Given the description of an element on the screen output the (x, y) to click on. 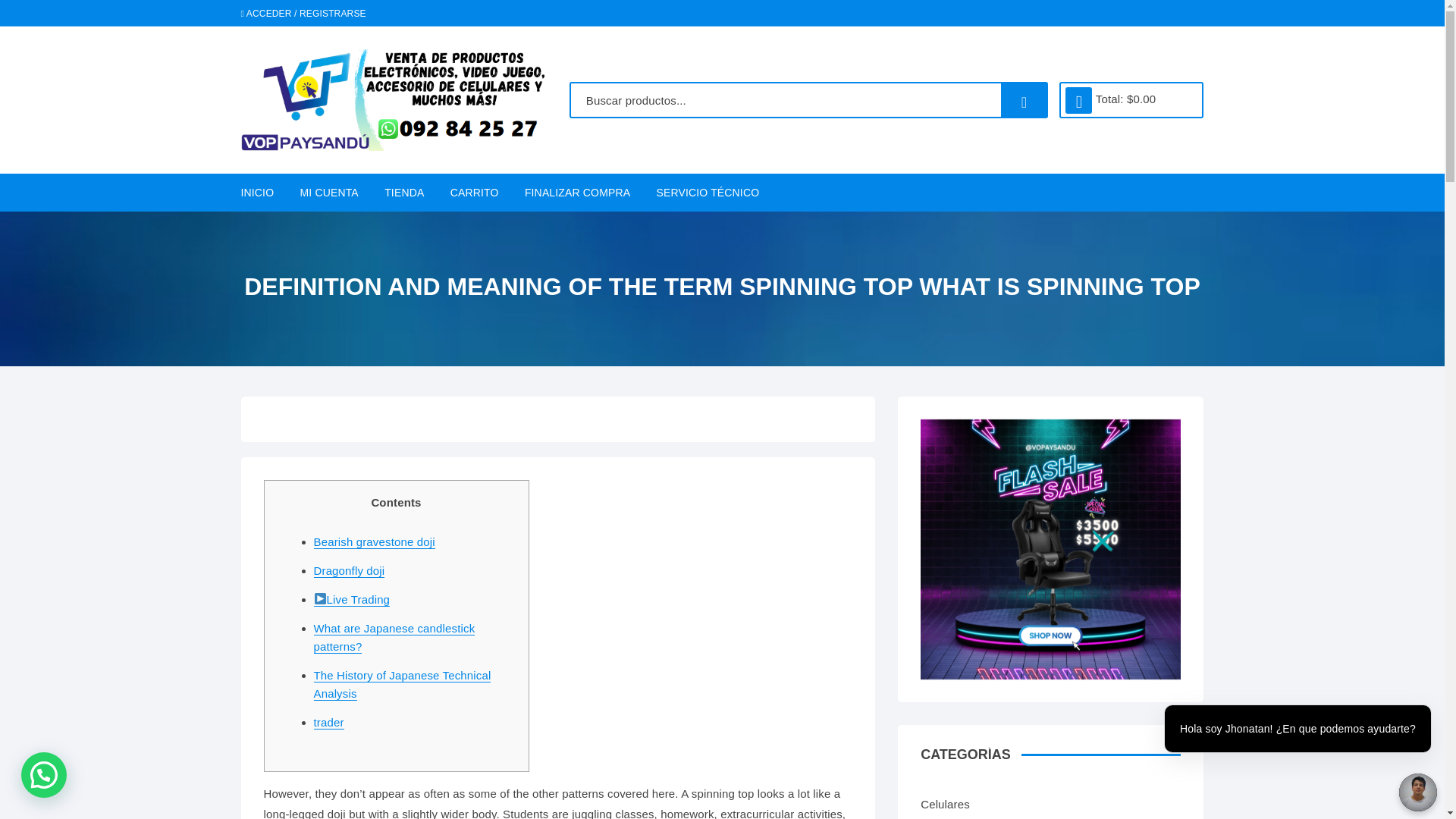
INICIO (263, 192)
Live Trading (352, 599)
What are Japanese candlestick patterns? (395, 637)
MI CUENTA (328, 192)
Bearish gravestone doji (374, 541)
ps4 paysandu juegos (1050, 549)
TIENDA (403, 192)
trader (328, 722)
Celulares (1030, 802)
CARRITO (475, 192)
The History of Japanese Technical Analysis (403, 685)
FINALIZAR COMPRA (577, 192)
Dragonfly doji (349, 571)
